Given the description of an element on the screen output the (x, y) to click on. 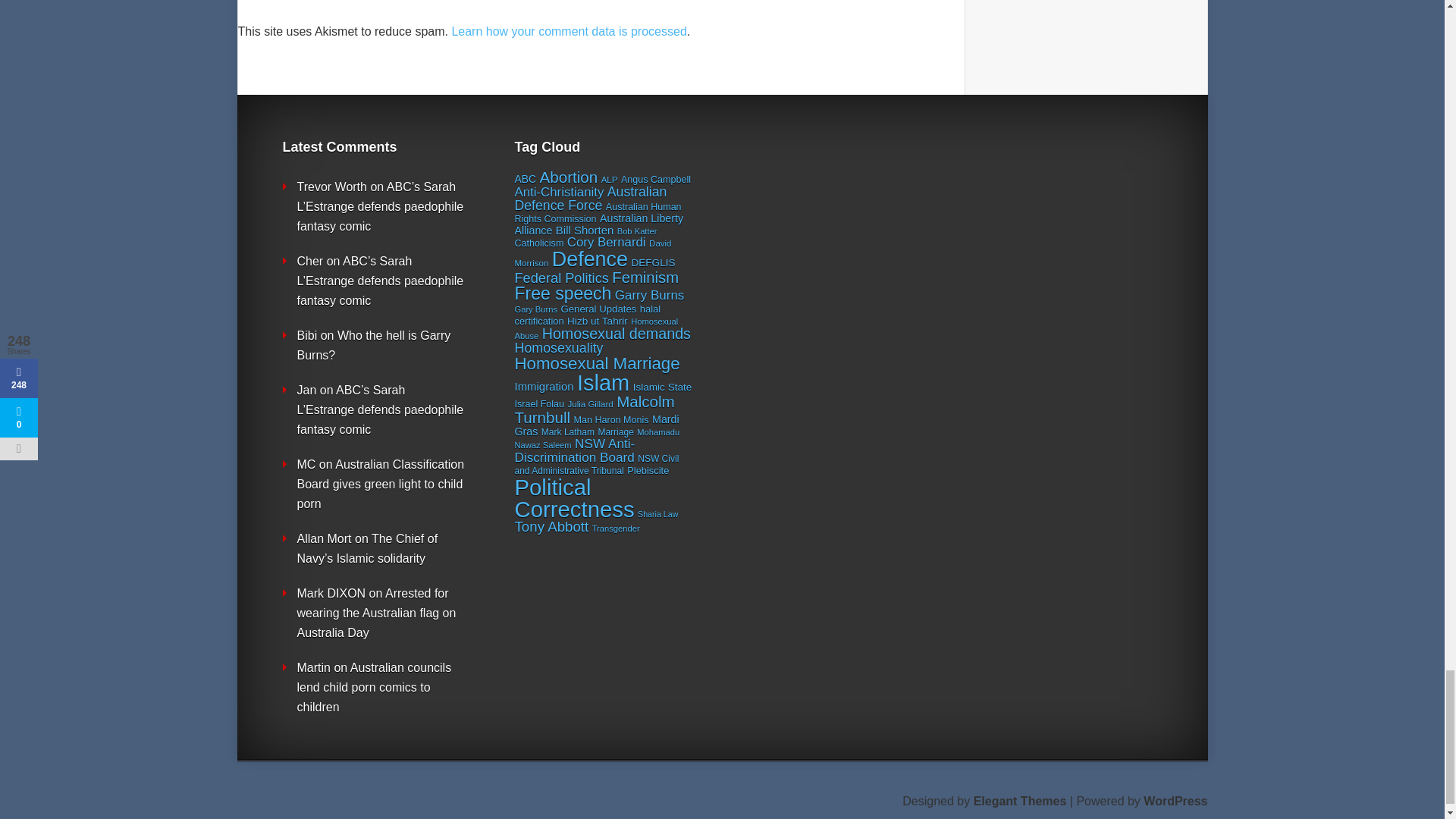
Premium WordPress Themes (1020, 800)
